Given the description of an element on the screen output the (x, y) to click on. 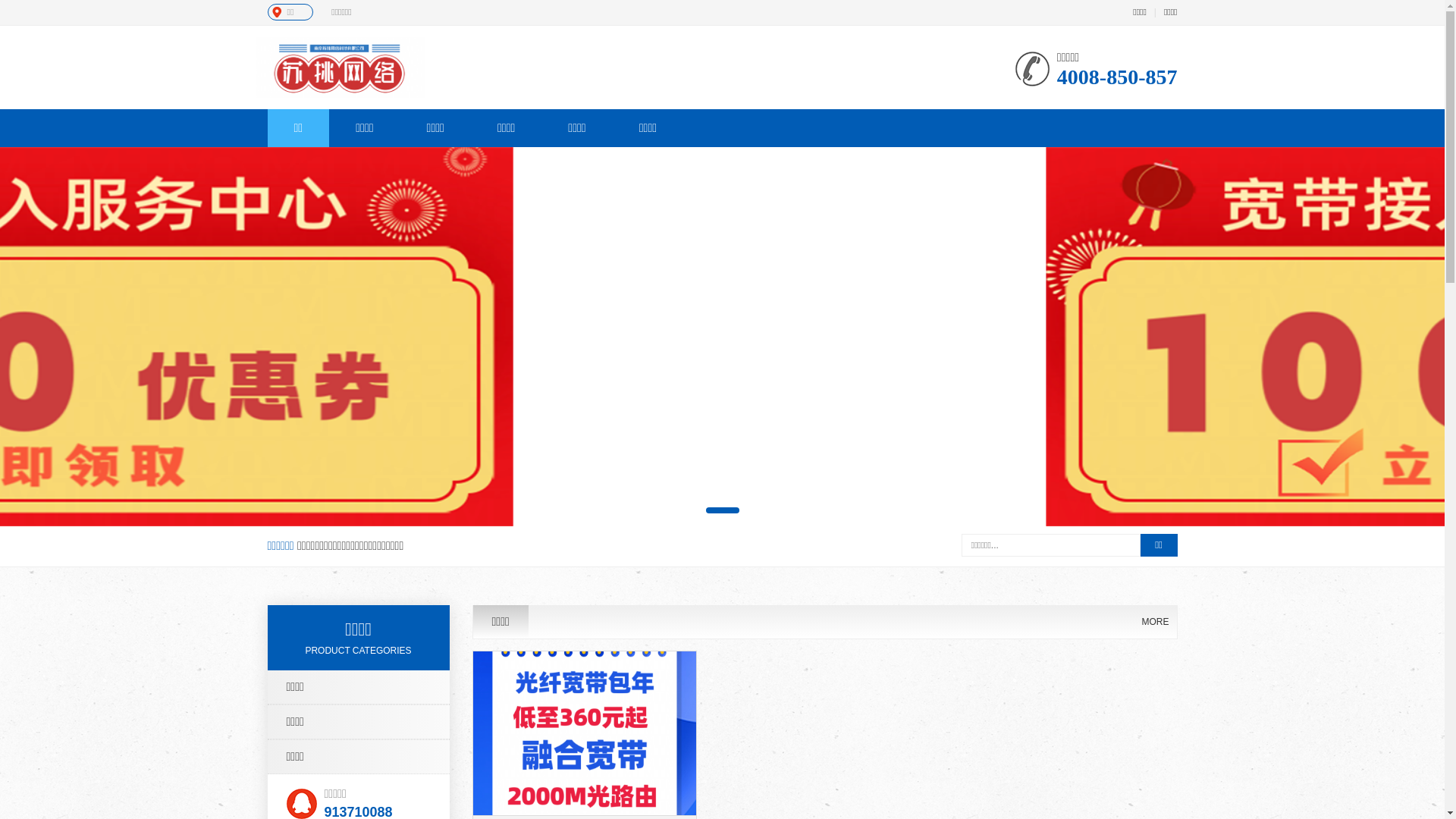
MORE Element type: text (1155, 621)
